Given the description of an element on the screen output the (x, y) to click on. 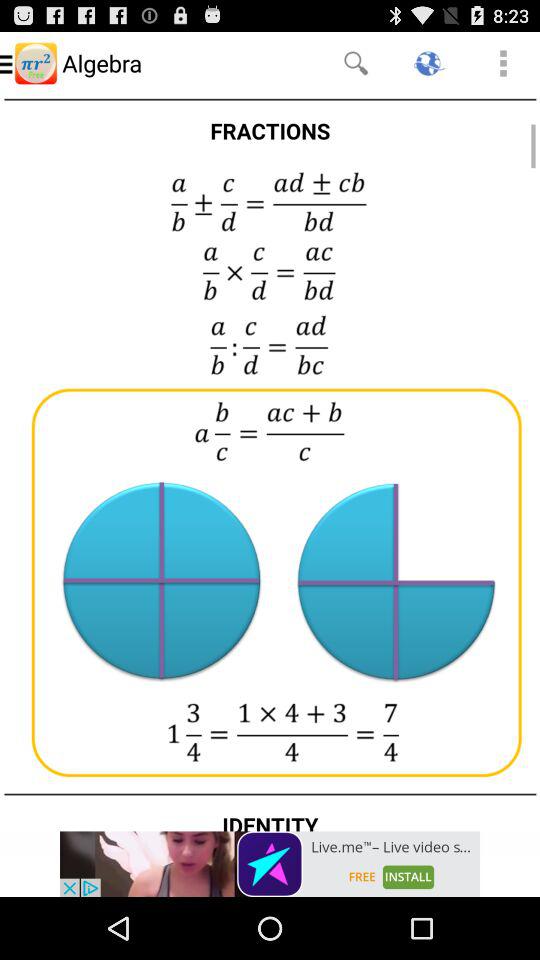
math problem display (270, 462)
